Given the description of an element on the screen output the (x, y) to click on. 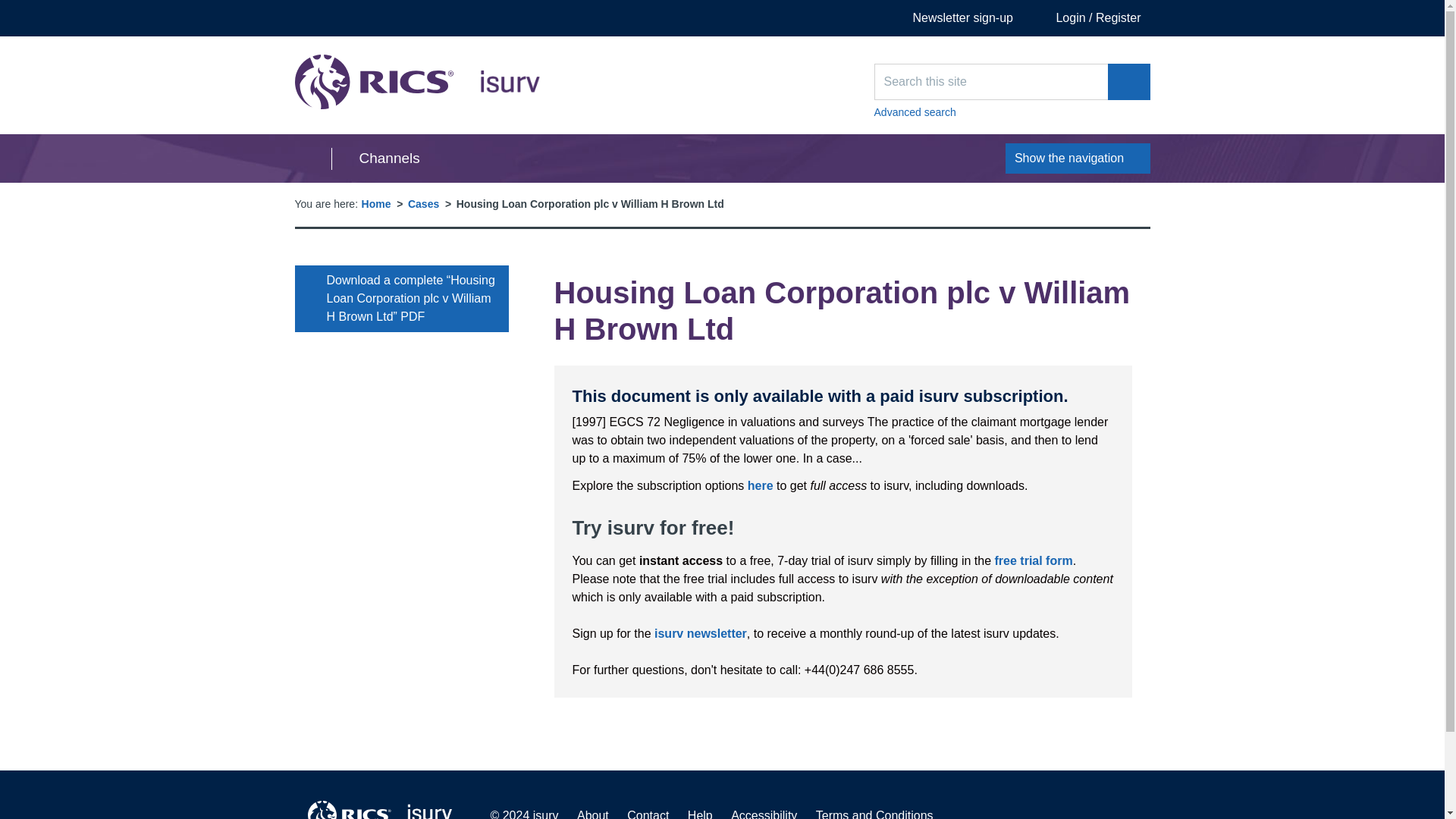
here (760, 485)
Search (1128, 81)
Advanced search (1012, 112)
Newsletter sign-up (952, 18)
isurv newsletter (699, 633)
Cases (423, 203)
Channels (374, 158)
Show the navigation (1078, 158)
RICS (349, 809)
free trial form (1033, 560)
